Given the description of an element on the screen output the (x, y) to click on. 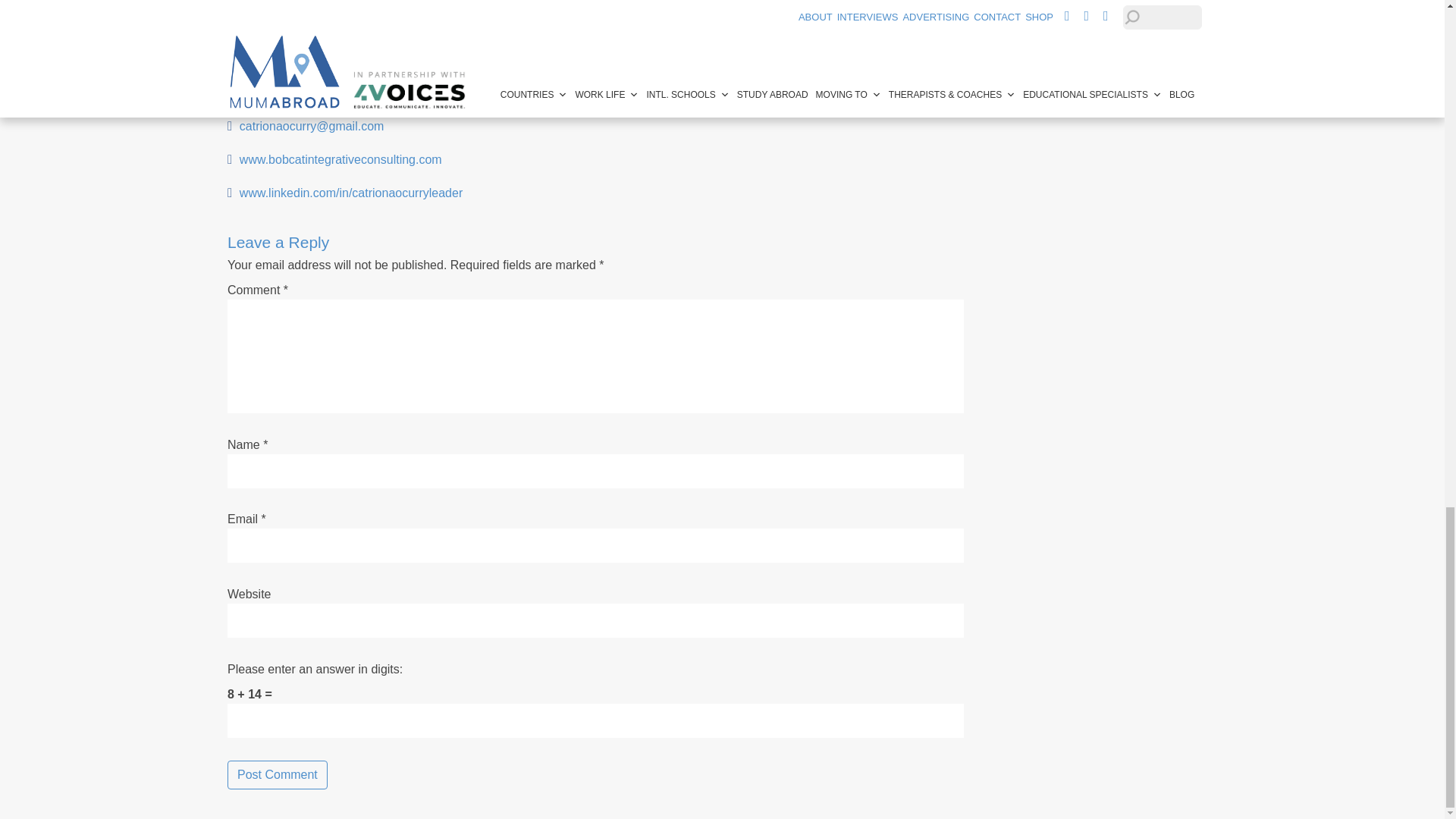
Post Comment (277, 774)
